Given the description of an element on the screen output the (x, y) to click on. 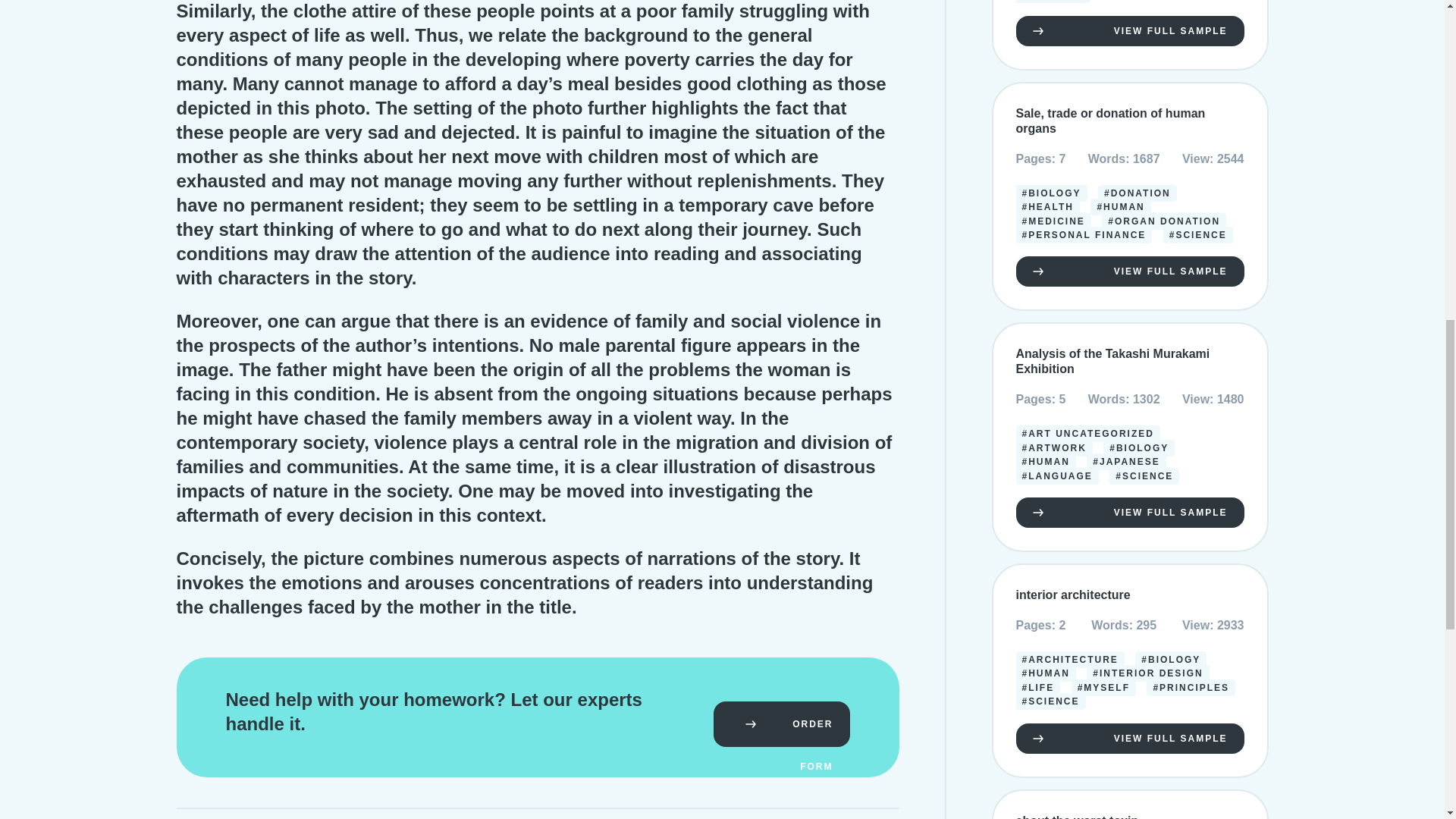
ORDER FORM (780, 723)
